Given the description of an element on the screen output the (x, y) to click on. 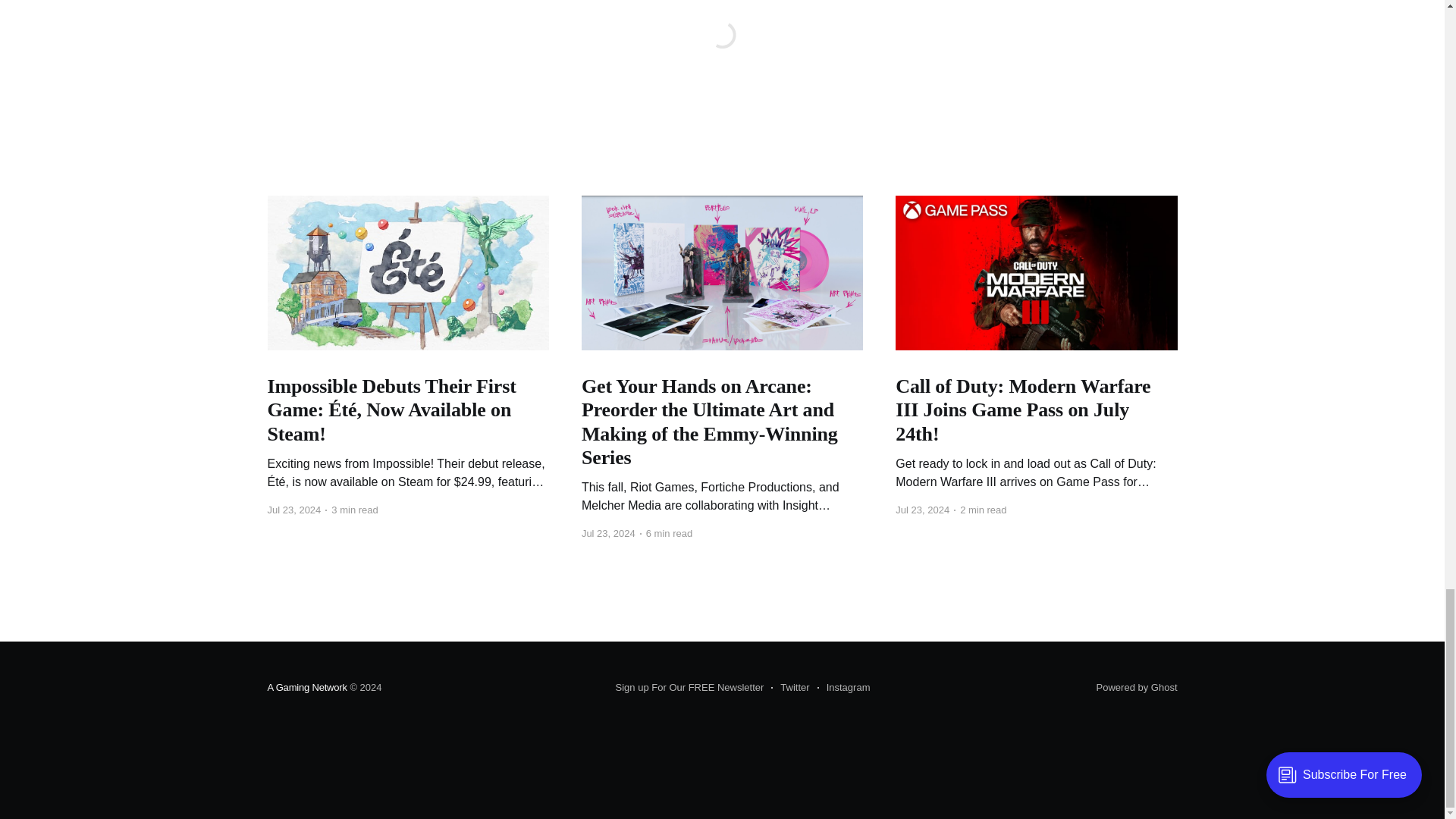
Powered by Ghost (1136, 686)
A Gaming Network (306, 686)
Sign up For Our FREE Newsletter (689, 687)
Instagram (843, 687)
comments-frame (721, 55)
Twitter (790, 687)
